Given the description of an element on the screen output the (x, y) to click on. 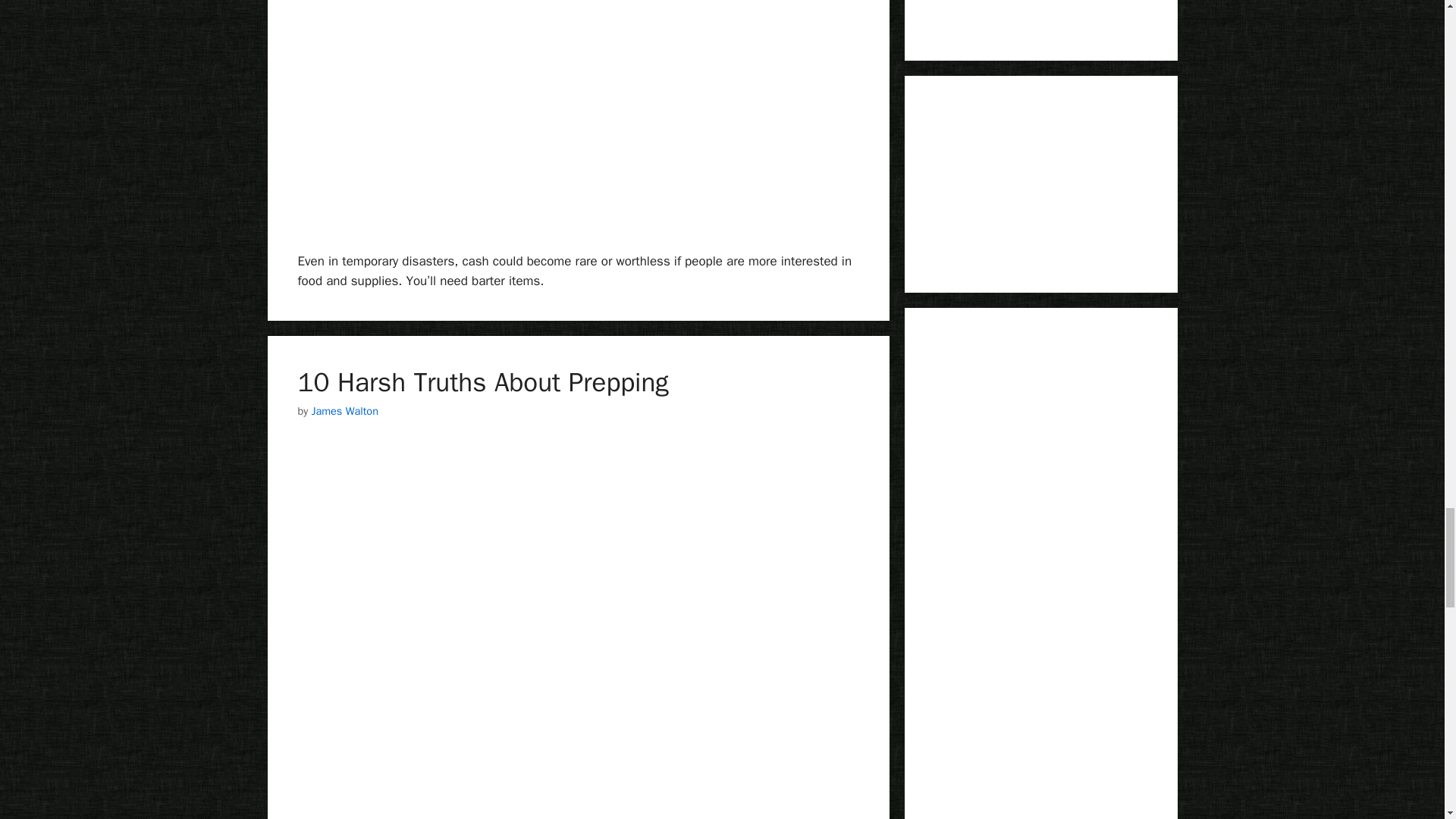
View all posts by James Walton (344, 410)
